Given the description of an element on the screen output the (x, y) to click on. 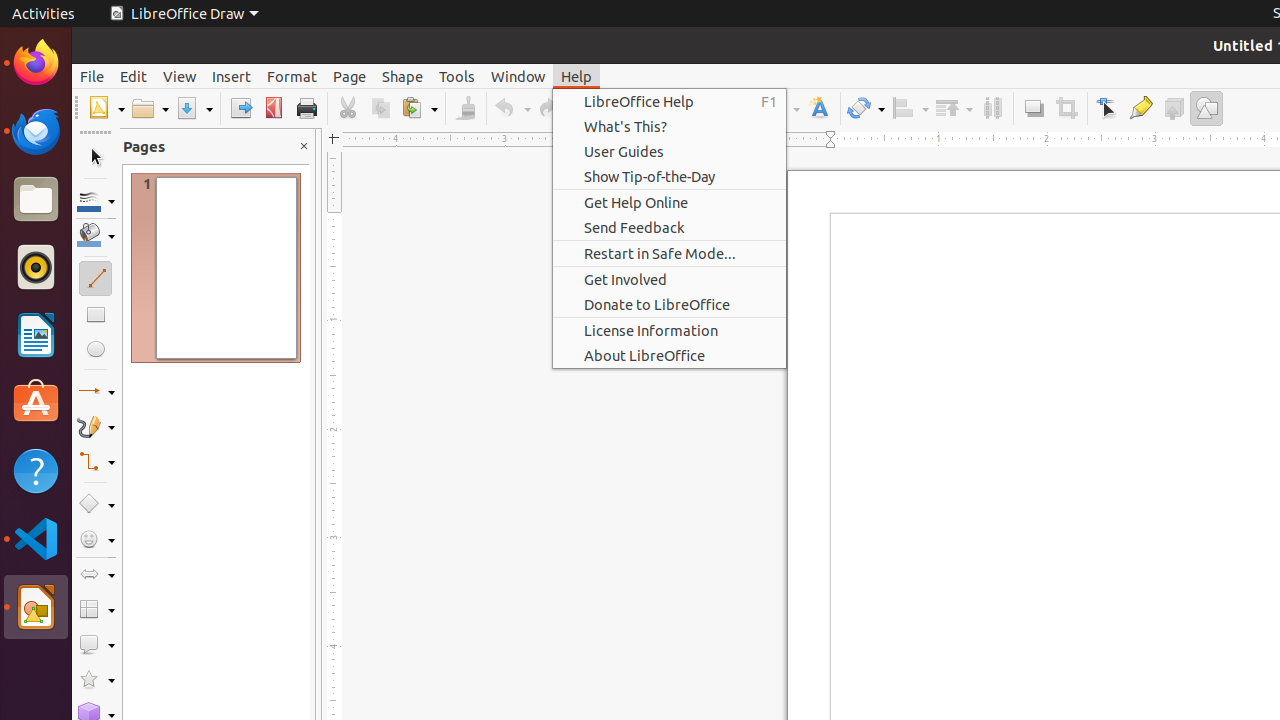
File Element type: menu (92, 76)
Get Help Online Element type: menu-item (669, 202)
Distribution Element type: push-button (992, 108)
Thunderbird Mail Element type: push-button (36, 131)
Clone Element type: push-button (465, 108)
